Given the description of an element on the screen output the (x, y) to click on. 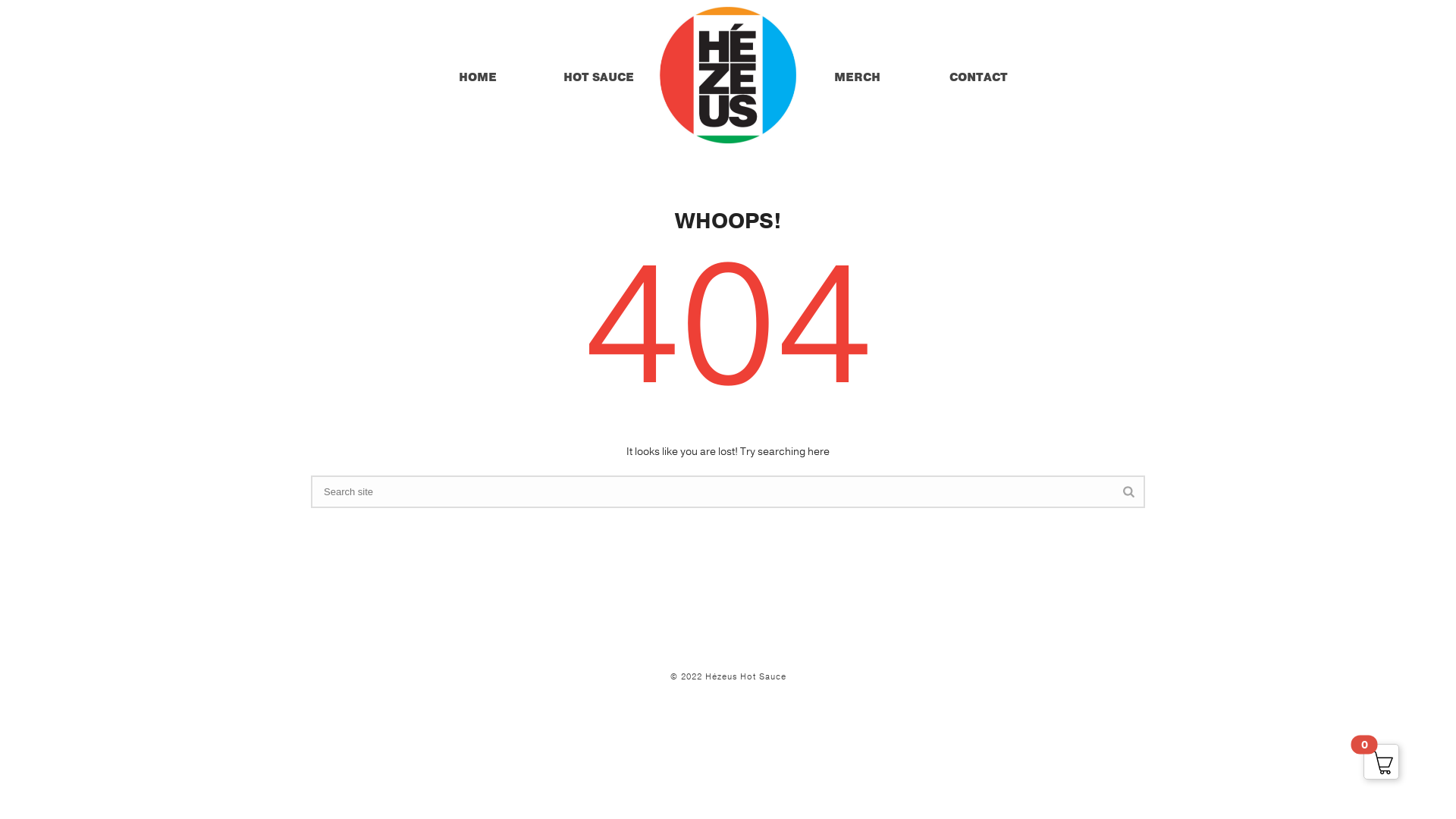
MERCH Element type: text (856, 75)
HOME Element type: text (477, 75)
CONTACT Element type: text (977, 75)
HOT SAUCE Element type: text (598, 75)
